Given the description of an element on the screen output the (x, y) to click on. 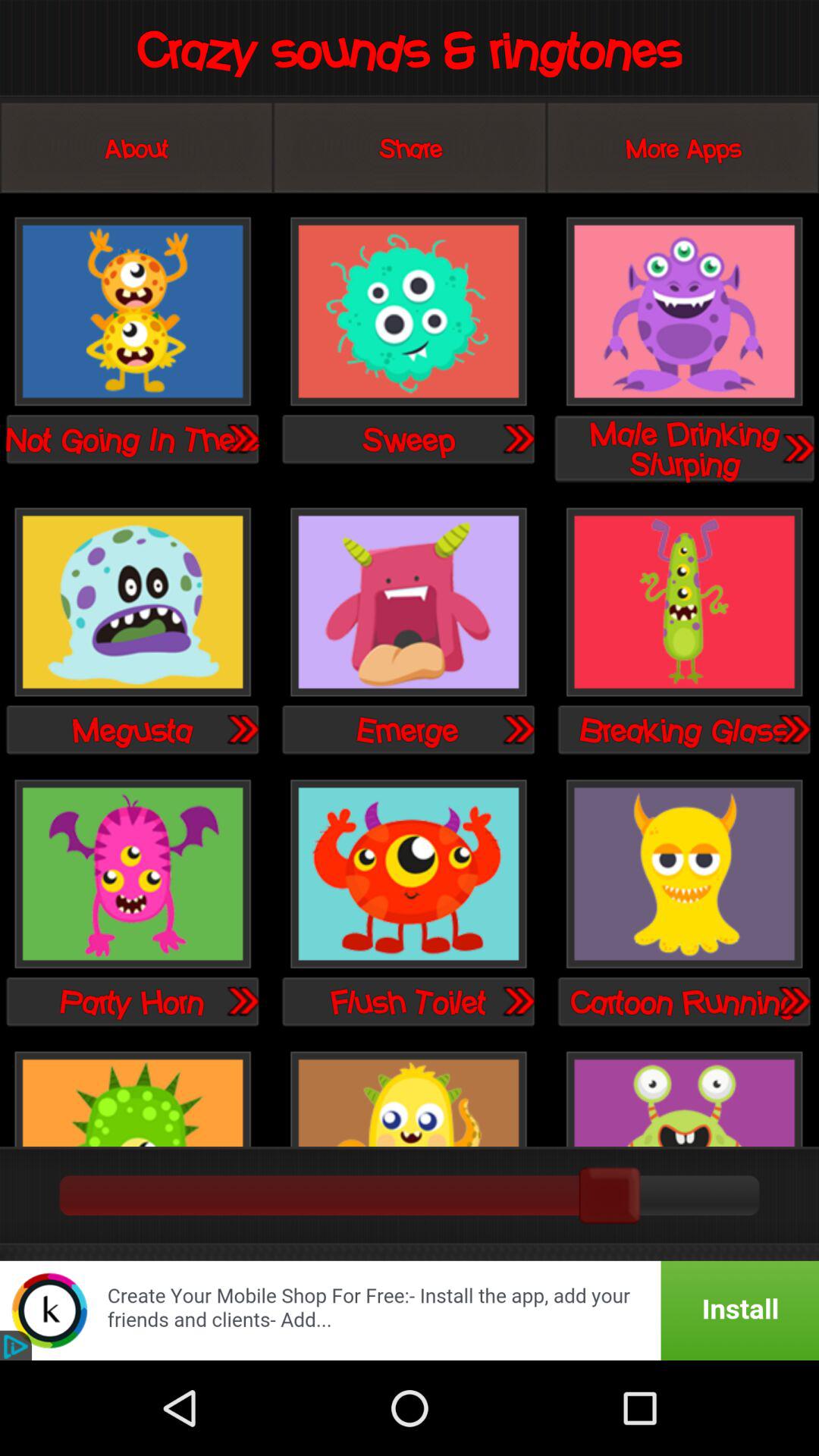
pick cartoon running (684, 874)
